Given the description of an element on the screen output the (x, y) to click on. 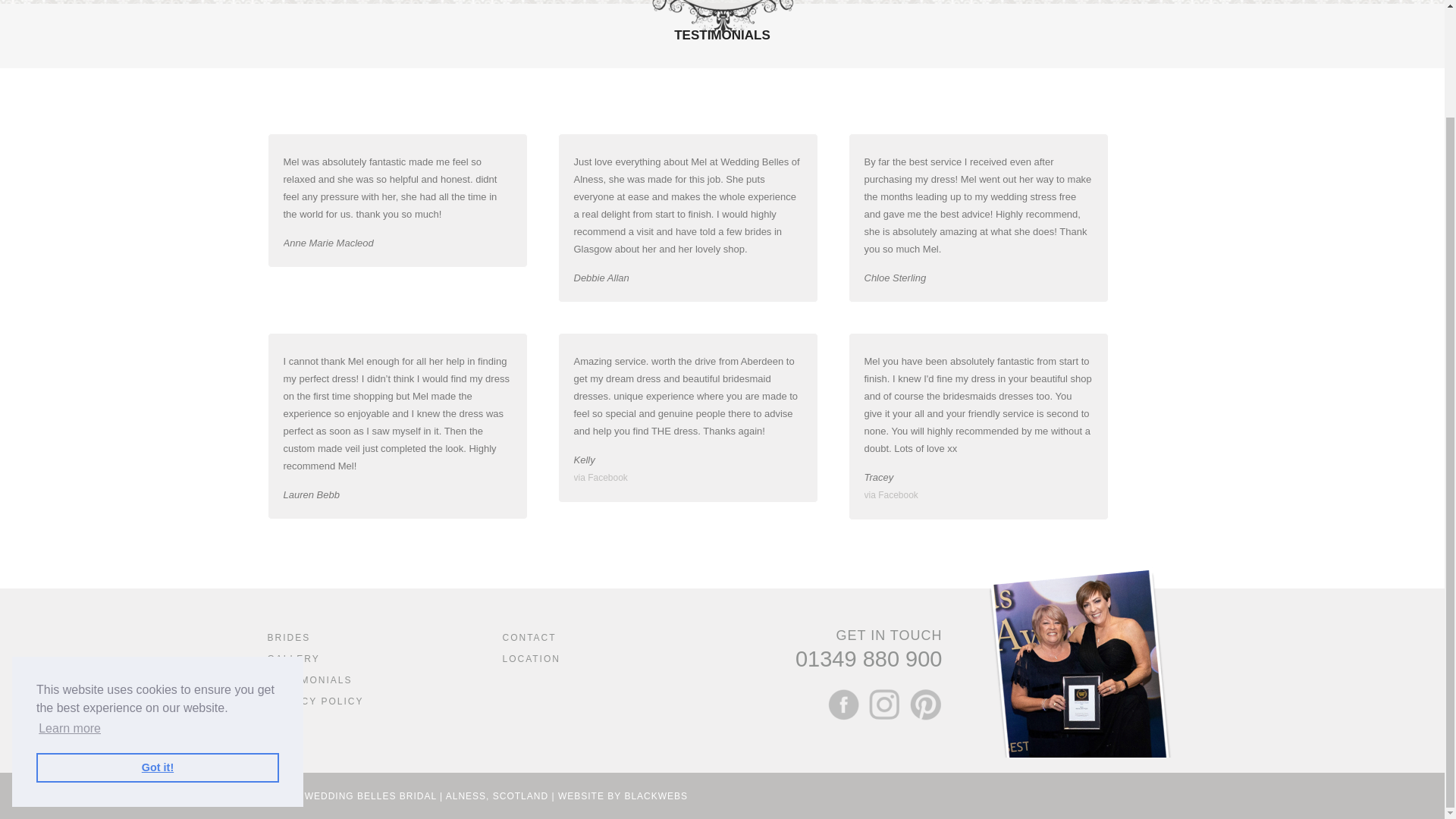
Got it! (157, 641)
TESTIMONIALS (309, 679)
CONTACT (529, 637)
BRIDES (288, 637)
Learn more (69, 602)
LOCATION (530, 658)
GALLERY (292, 658)
PRIVACY POLICY (314, 701)
WEBSITE BY BLACKWEBS (622, 795)
